Given the description of an element on the screen output the (x, y) to click on. 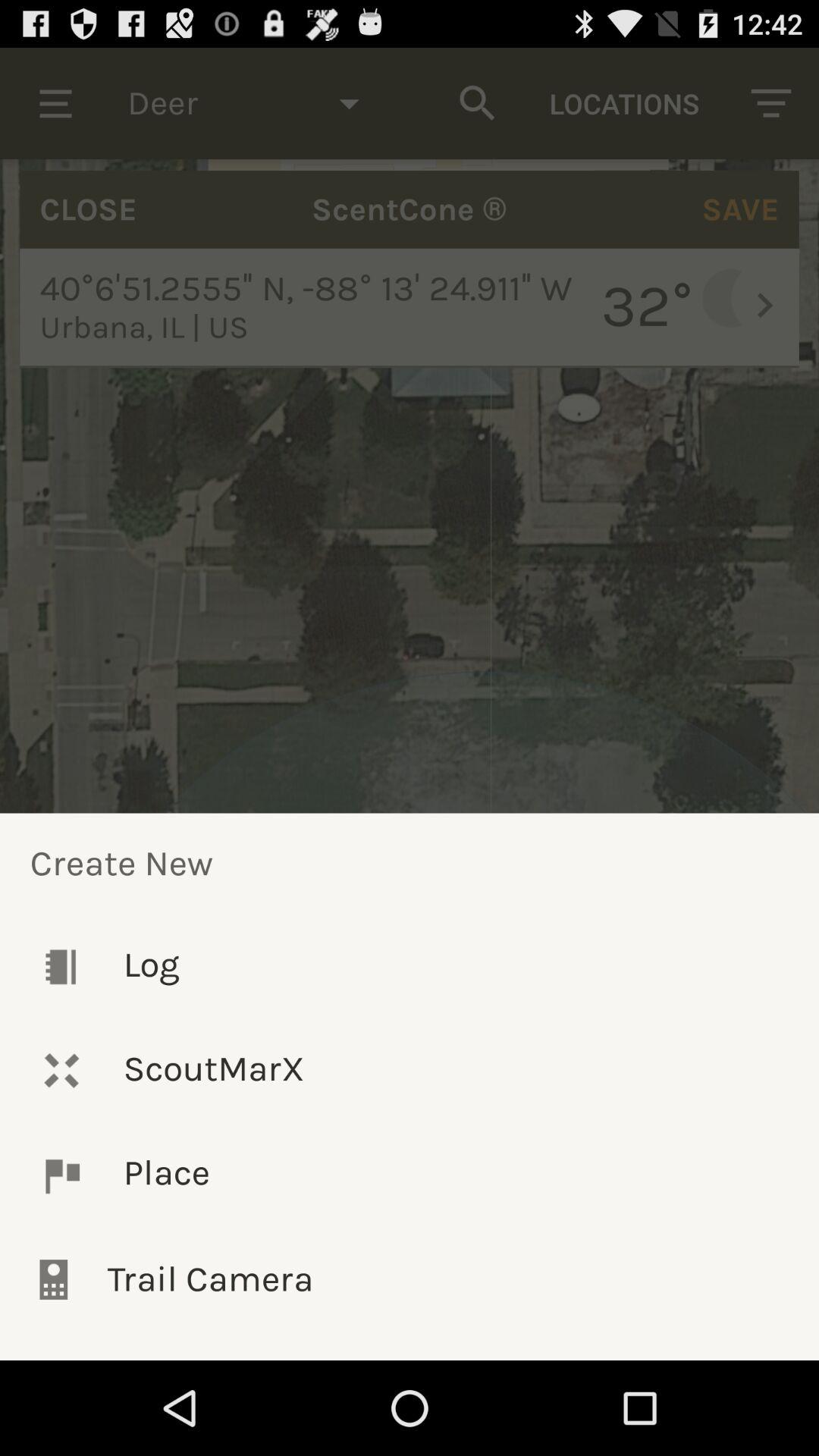
turn on the trail camera icon (409, 1279)
